Given the description of an element on the screen output the (x, y) to click on. 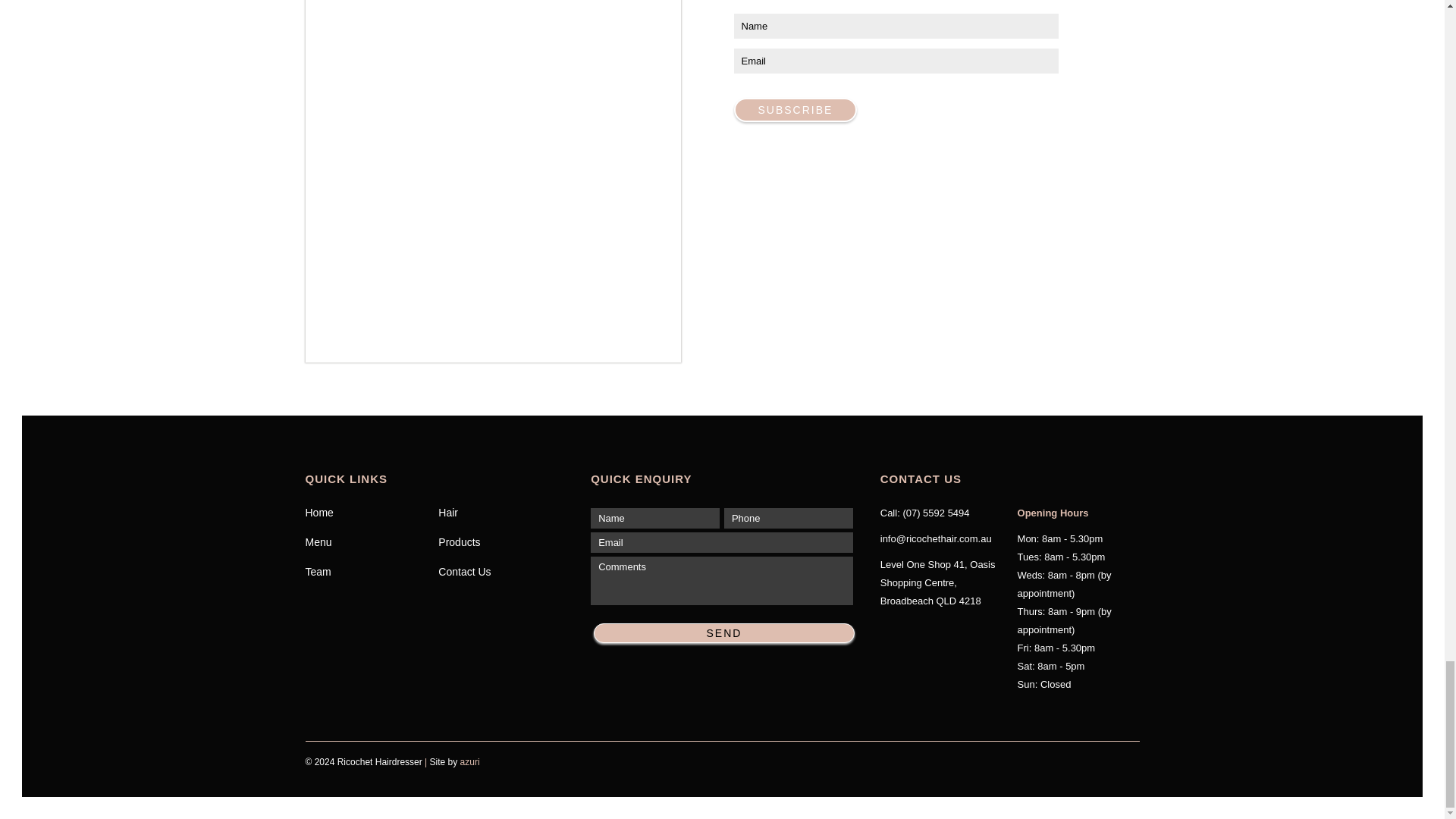
SEND (725, 632)
SUBSCRIBE (795, 109)
Team (371, 571)
SUBSCRIBE (795, 109)
Menu (371, 541)
Contact Us (505, 571)
Hair (505, 512)
azuri (470, 761)
SEND (725, 632)
Products (505, 541)
